Given the description of an element on the screen output the (x, y) to click on. 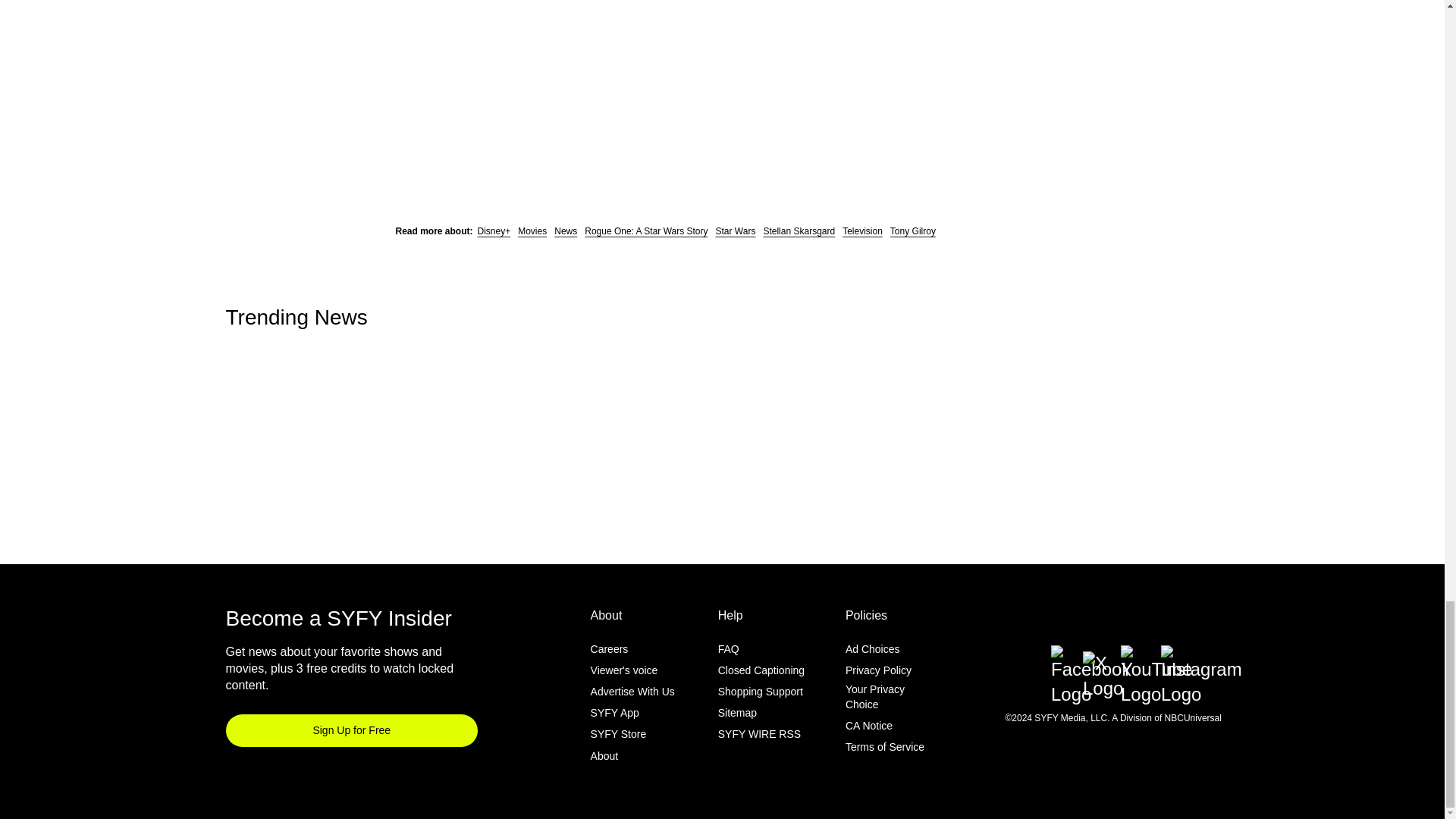
Star Wars (735, 231)
News (565, 231)
Stellan Skarsgard (798, 231)
Television (862, 231)
Tony Gilroy (912, 231)
Advertise With Us (633, 692)
Rogue One: A Star Wars Story (646, 231)
Movies (532, 231)
